Given the description of an element on the screen output the (x, y) to click on. 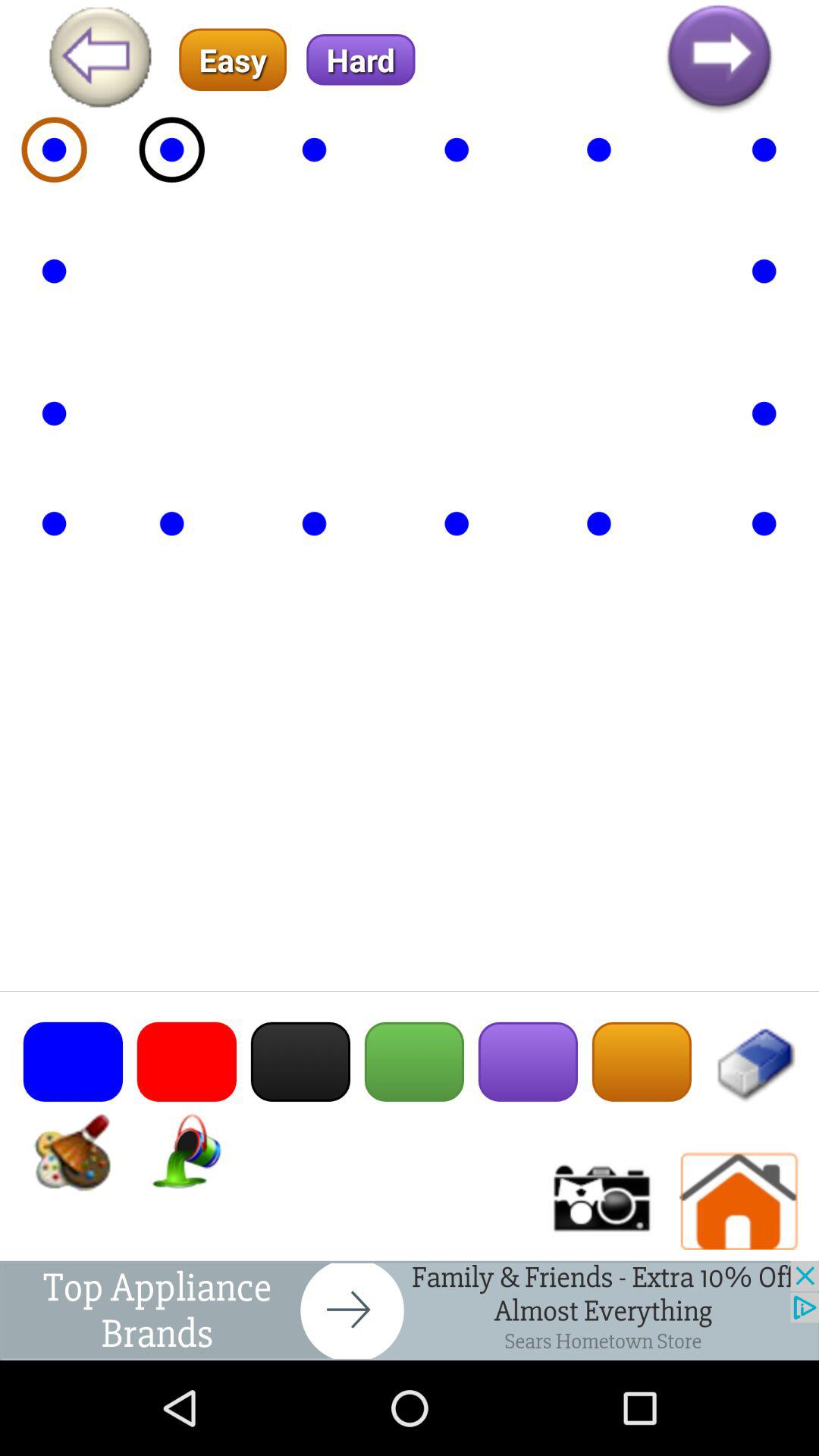
follow advertisement link (409, 1310)
